Given the description of an element on the screen output the (x, y) to click on. 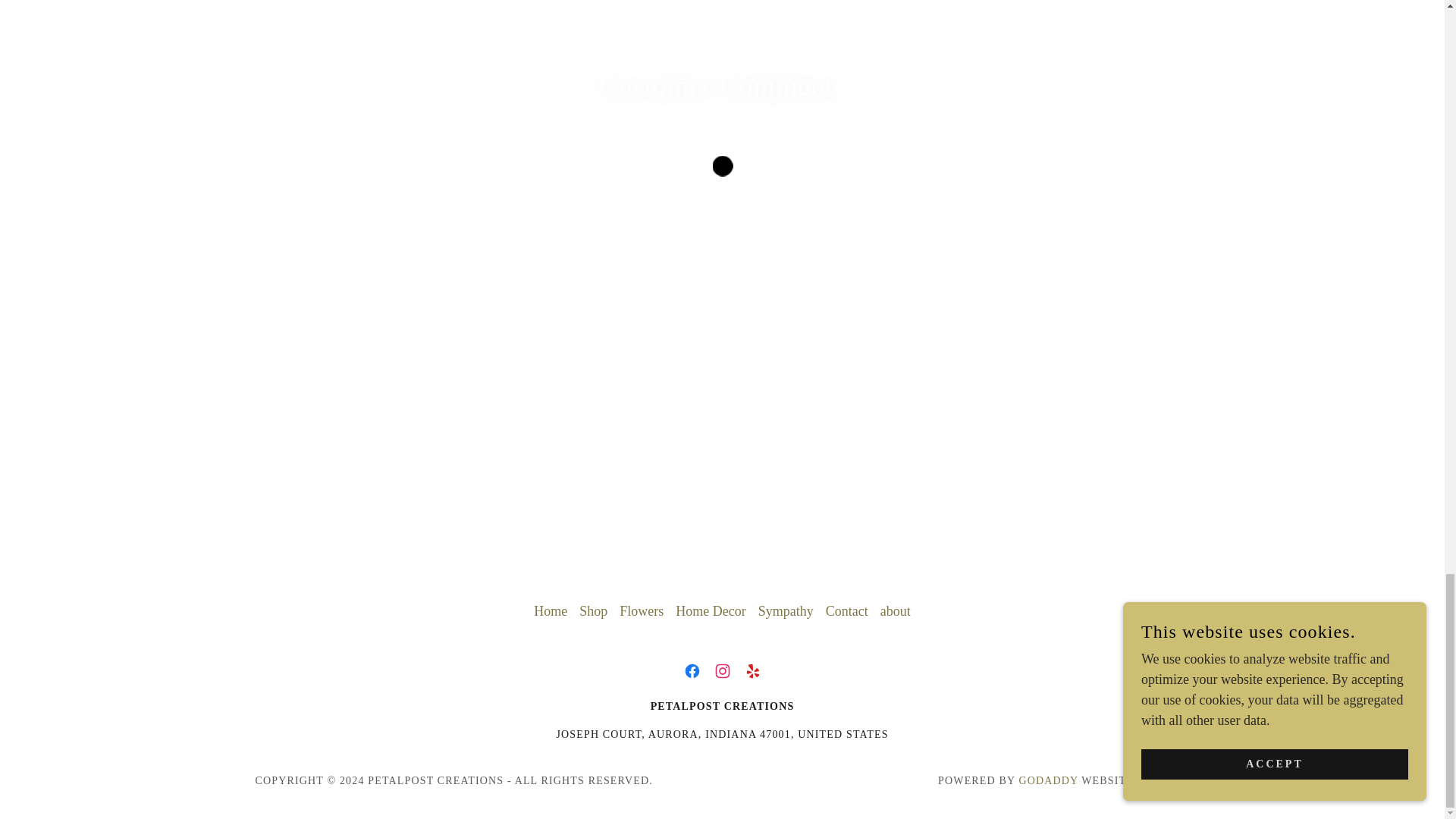
Home (550, 611)
Flowers (640, 611)
Contact (847, 611)
Home Decor (710, 611)
Sympathy (785, 611)
Shop (592, 611)
about (896, 611)
